Given the description of an element on the screen output the (x, y) to click on. 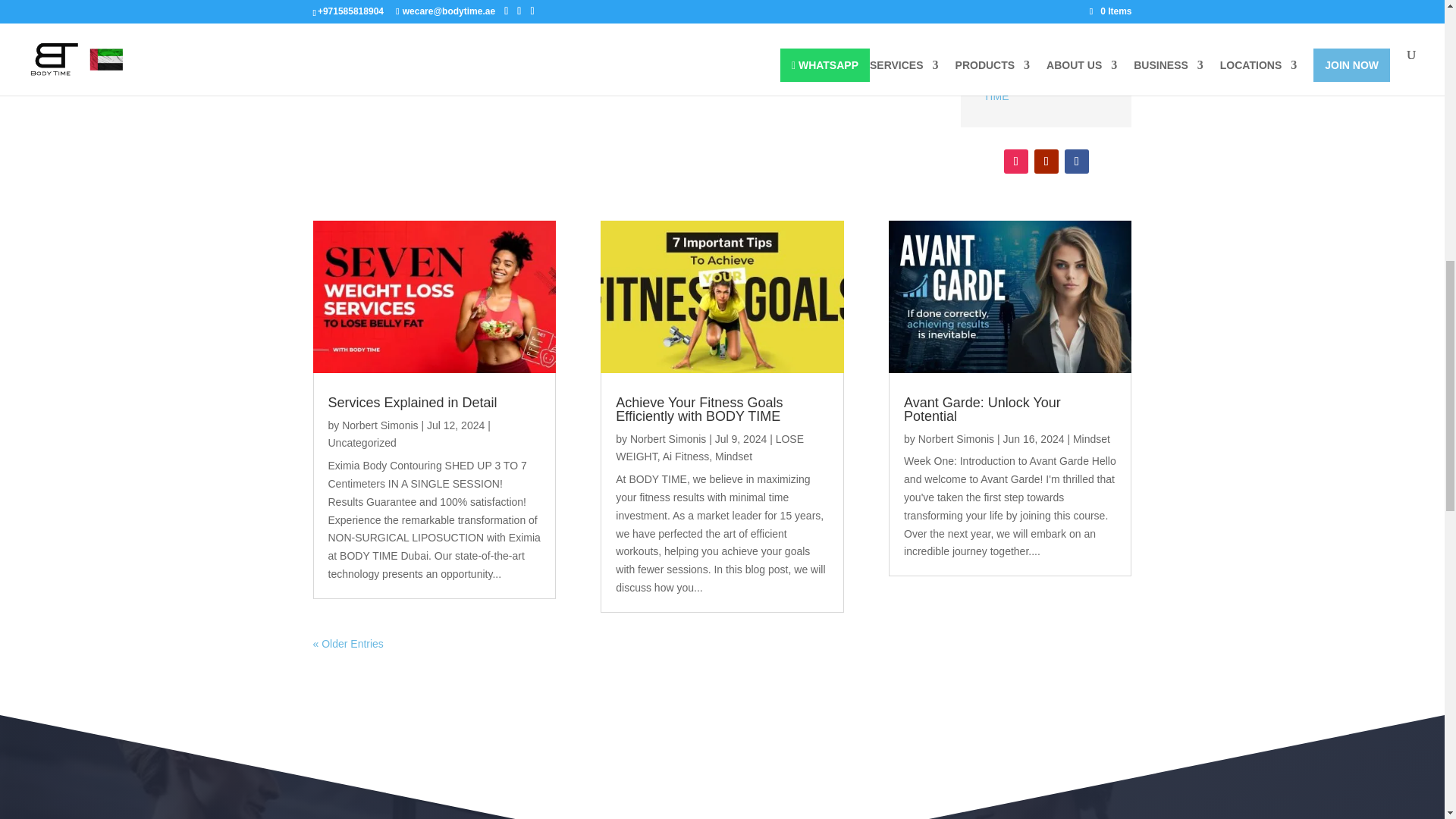
Follow on Facebook (1076, 161)
Follow on Youtube (1045, 161)
Posts by Norbert Simonis (668, 439)
Posts by Norbert Simonis (379, 425)
Follow on Instagram (1015, 161)
Posts by Norbert Simonis (956, 439)
